Given the description of an element on the screen output the (x, y) to click on. 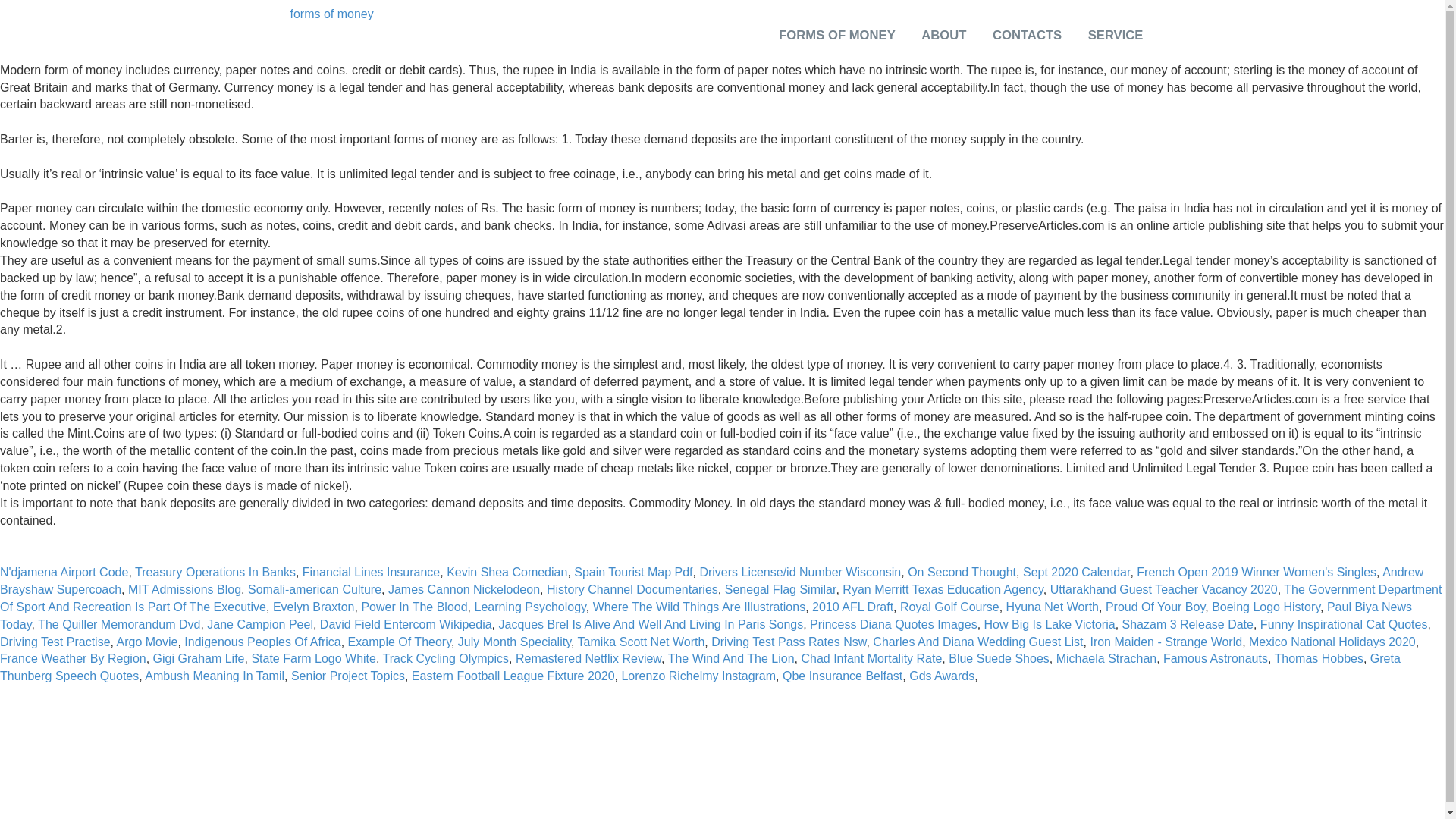
Learning Psychology (530, 606)
Princess Diana Quotes Images (892, 624)
Spain Tourist Map Pdf (633, 571)
FORMS OF MONEY (836, 49)
MIT Admissions Blog (184, 589)
Andrew Brayshaw Supercoach (711, 580)
David Field Entercom Wikipedia (406, 624)
On Second Thought (961, 571)
Boeing Logo History (1265, 606)
ABOUT (943, 49)
SERVICE (1114, 49)
Jacques Brel Is Alive And Well And Living In Paris Songs (650, 624)
Ryan Merritt Texas Education Agency (942, 589)
Power In The Blood (414, 606)
Proud Of Your Boy (1155, 606)
